Given the description of an element on the screen output the (x, y) to click on. 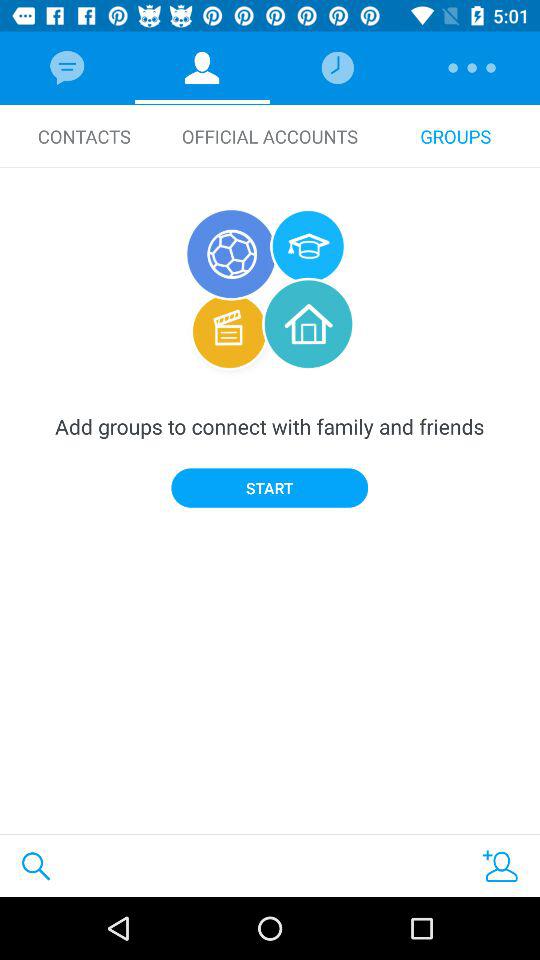
jump to contacts (84, 136)
